Given the description of an element on the screen output the (x, y) to click on. 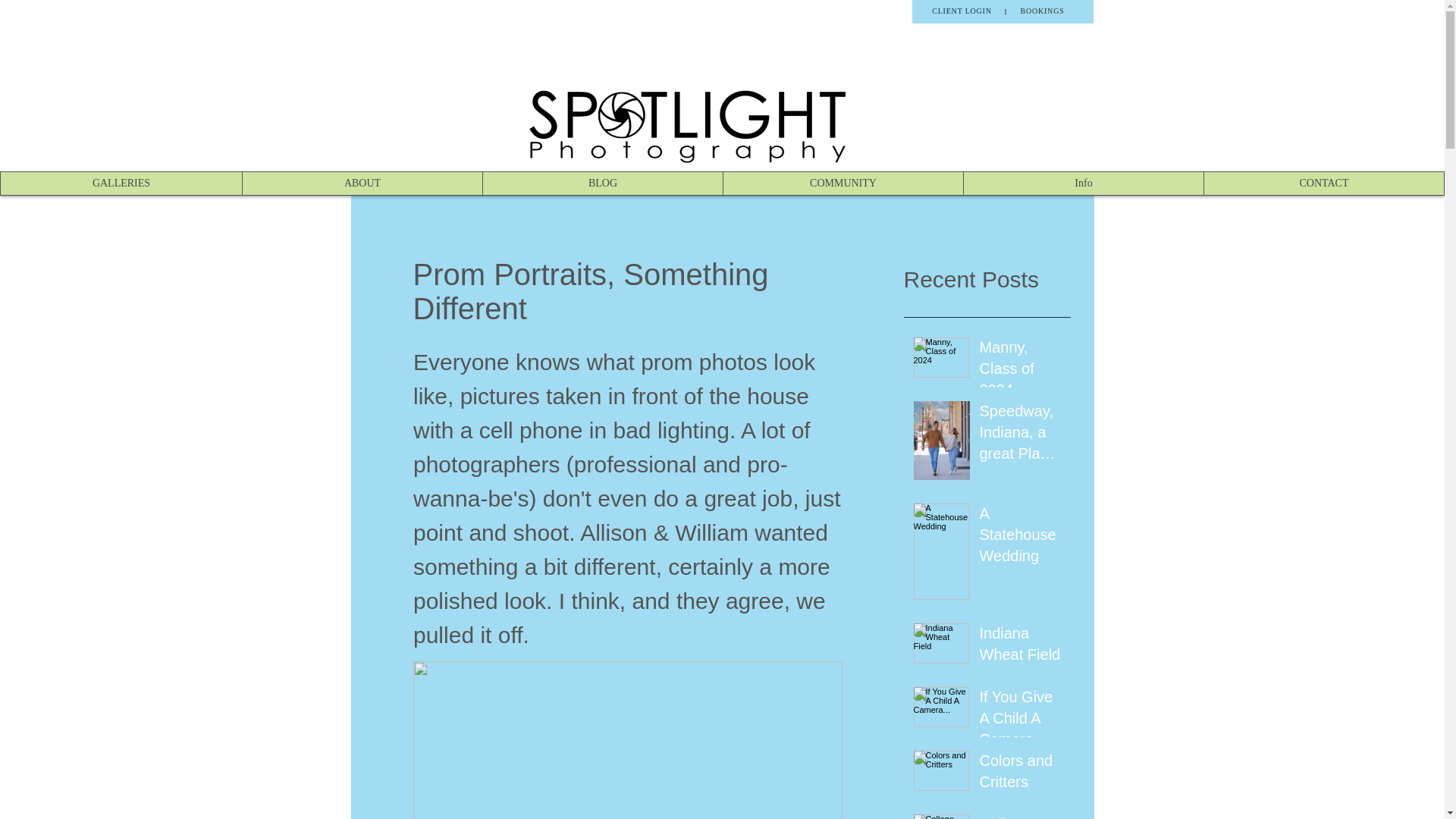
CONTACT (1324, 182)
ABOUT (361, 182)
CLIENT LOGIN (961, 10)
A Statehouse Wedding (1020, 537)
If You Give A Child A Camera... (1020, 720)
Manny, Class of 2024 (1020, 371)
Indiana Wheat Field (1020, 646)
BLOG (601, 182)
Speedway, Indiana, a great Place for portraits. (1020, 435)
Info (1083, 182)
Colors and Critters (1020, 774)
College Senior Pics (1020, 816)
BOOKINGS (1042, 10)
COMMUNITY (842, 182)
